Given the description of an element on the screen output the (x, y) to click on. 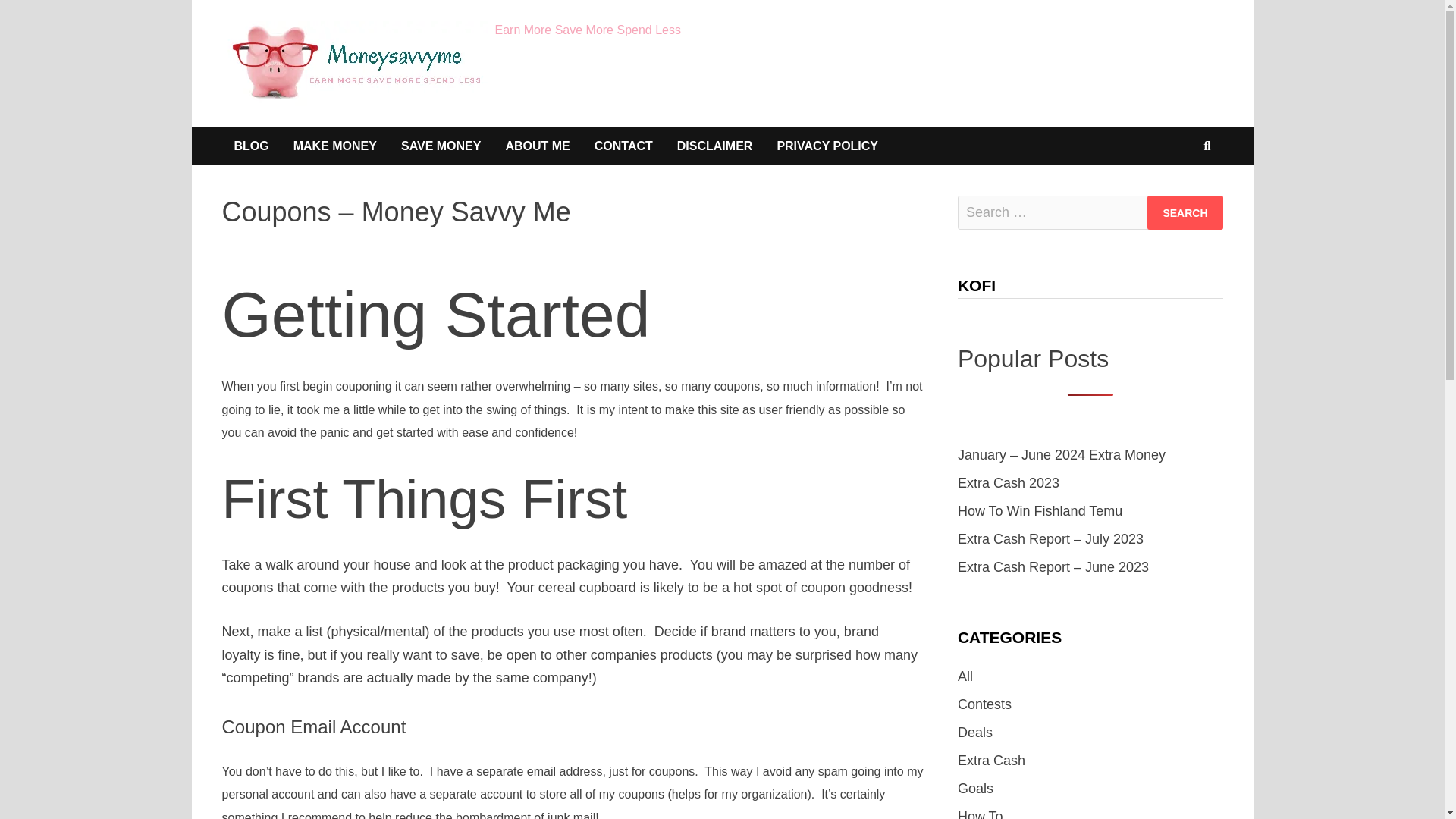
All (965, 676)
How To Win Fishland Temu (1040, 510)
How To (980, 814)
ABOUT ME (536, 146)
PRIVACY POLICY (826, 146)
SAVE MONEY (440, 146)
Extra Cash (991, 760)
Extra Cash 2023 (1008, 482)
CONTACT (623, 146)
Search (1185, 212)
